Given the description of an element on the screen output the (x, y) to click on. 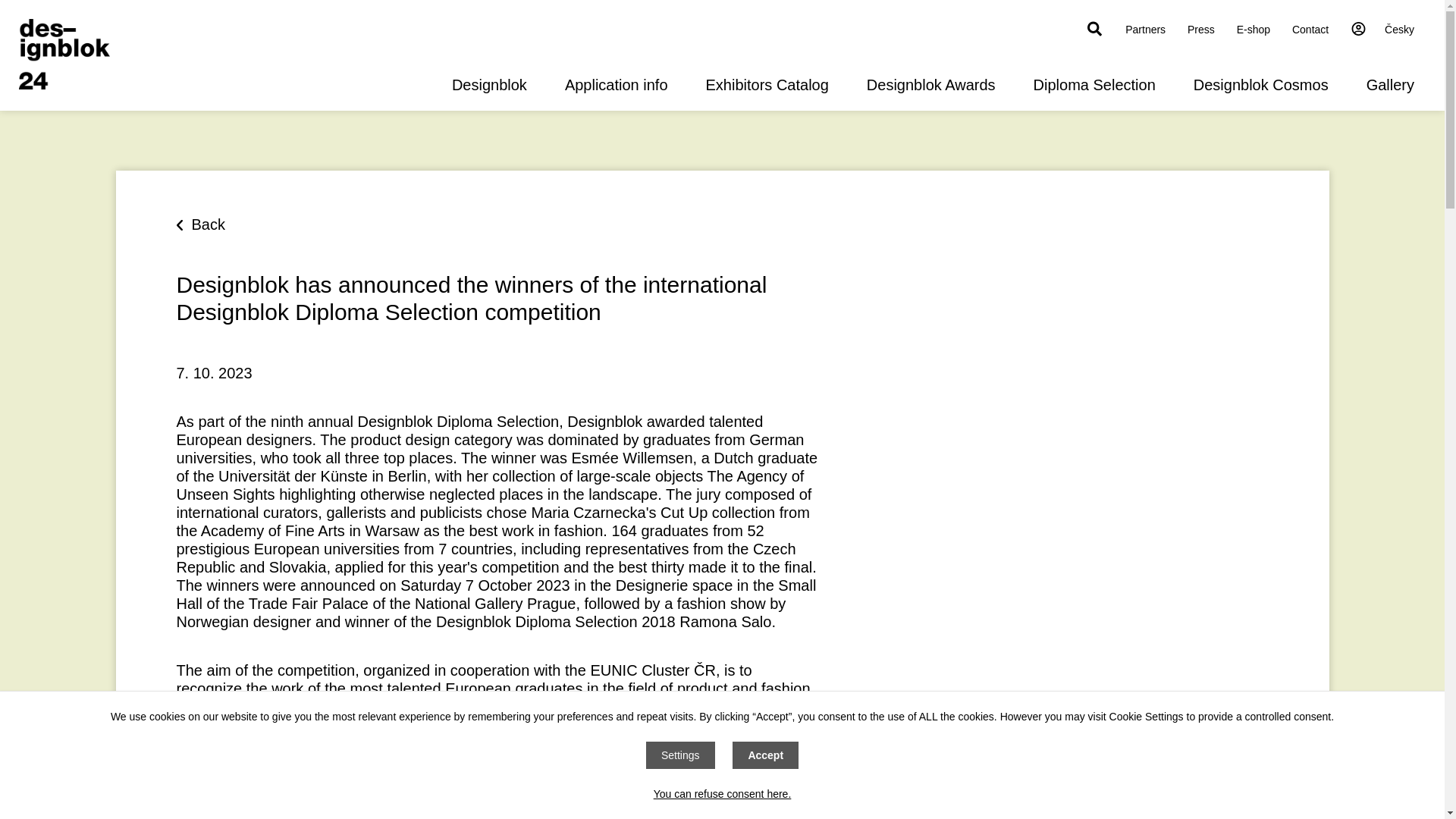
Contact (1309, 29)
E-shop (1252, 29)
Designblok Cosmos (1260, 85)
Application info (616, 85)
Partners (1145, 29)
Designblok (489, 85)
Diploma Selection (1094, 85)
Designblok Awards (930, 85)
Press (1201, 29)
Exhibitors Catalog (767, 85)
